Given the description of an element on the screen output the (x, y) to click on. 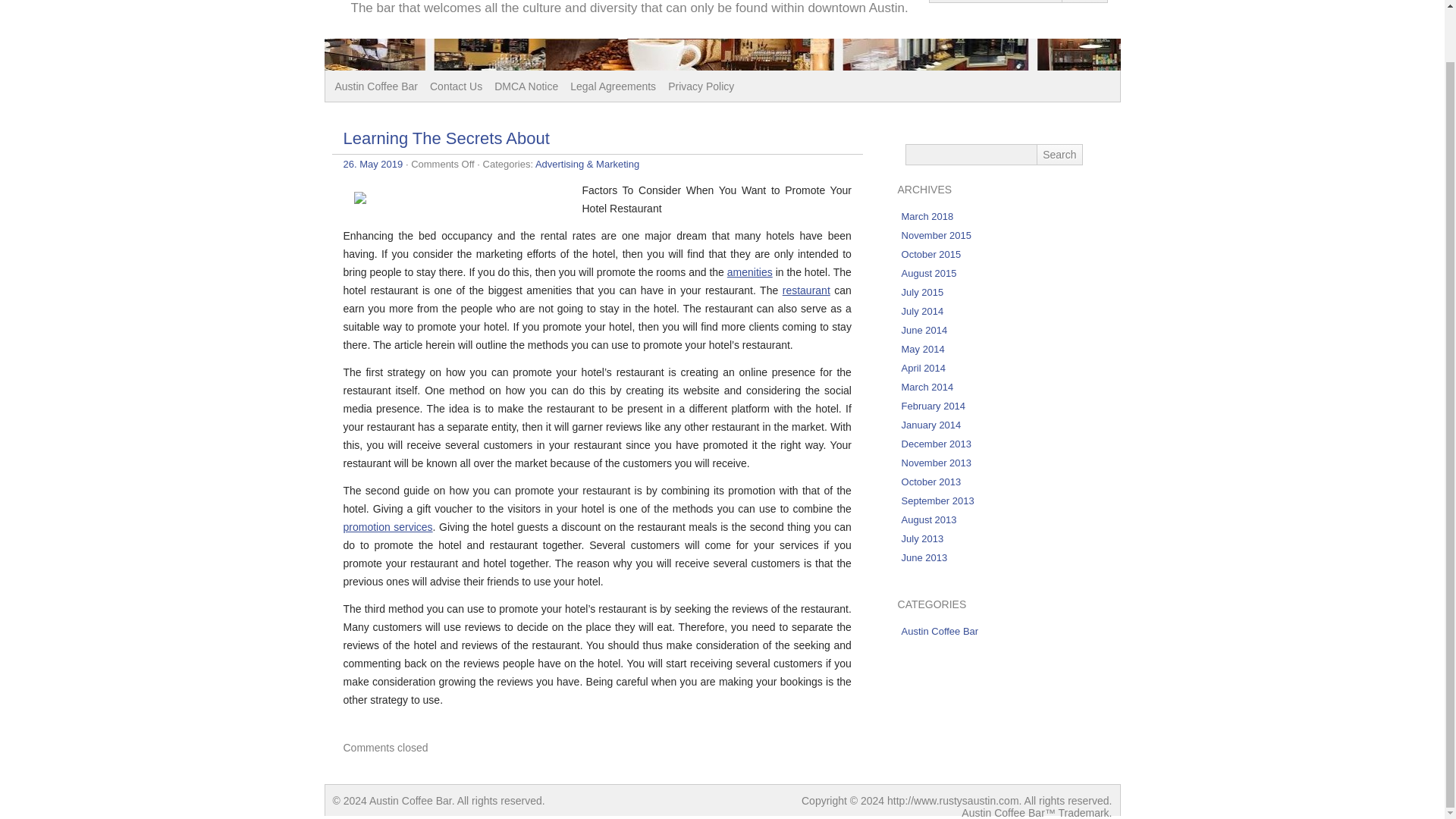
Legal Agreements (613, 85)
promotion services (387, 526)
July 2015 (922, 292)
Contact Us (455, 85)
August 2013 (928, 519)
December 2013 (936, 443)
Austin Coffee Bar (939, 631)
Search (1058, 154)
September 2013 (937, 500)
restaurant (806, 290)
July 2013 (922, 538)
March 2014 (927, 387)
View all posts filed under Austin Coffee Bar (939, 631)
November 2015 (936, 235)
June 2013 (924, 557)
